Given the description of an element on the screen output the (x, y) to click on. 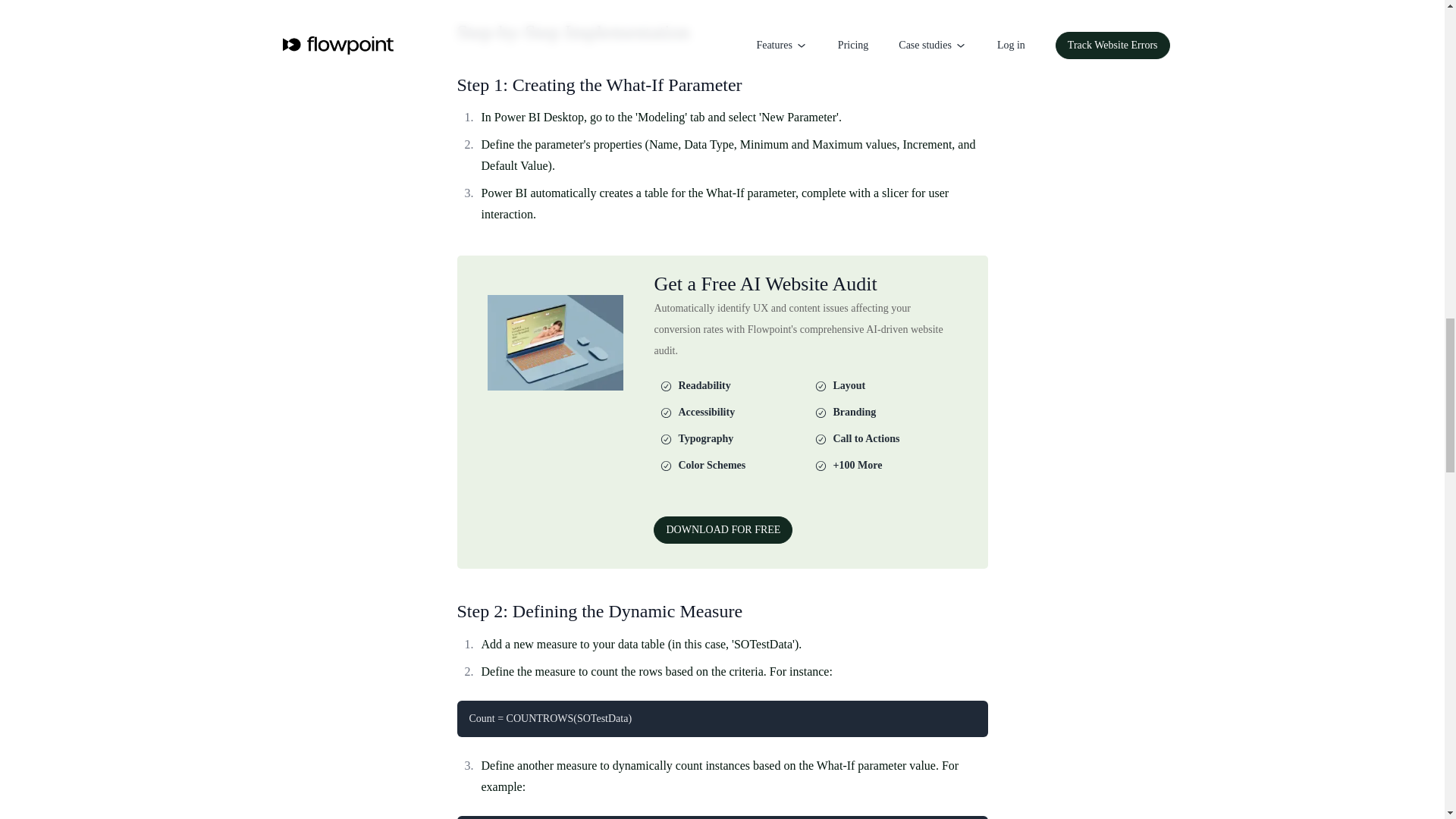
DOWNLOAD FOR FREE (722, 529)
